Given the description of an element on the screen output the (x, y) to click on. 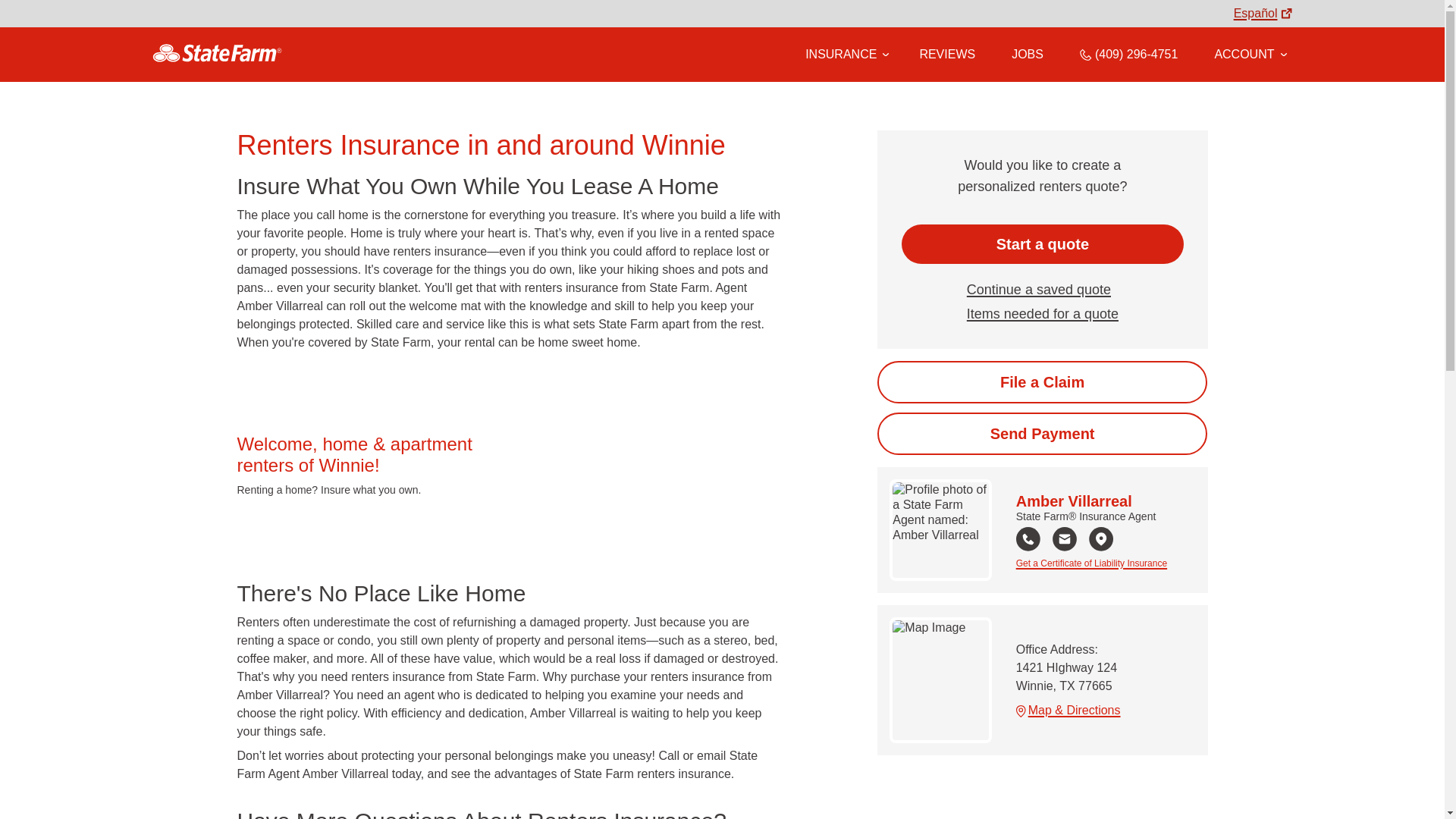
Start the claim process online (1042, 382)
Insurance (844, 54)
ACCOUNT (1250, 54)
REVIEWS (946, 54)
JOBS (1027, 54)
INSURANCE (840, 54)
Account Options (1250, 54)
